Given the description of an element on the screen output the (x, y) to click on. 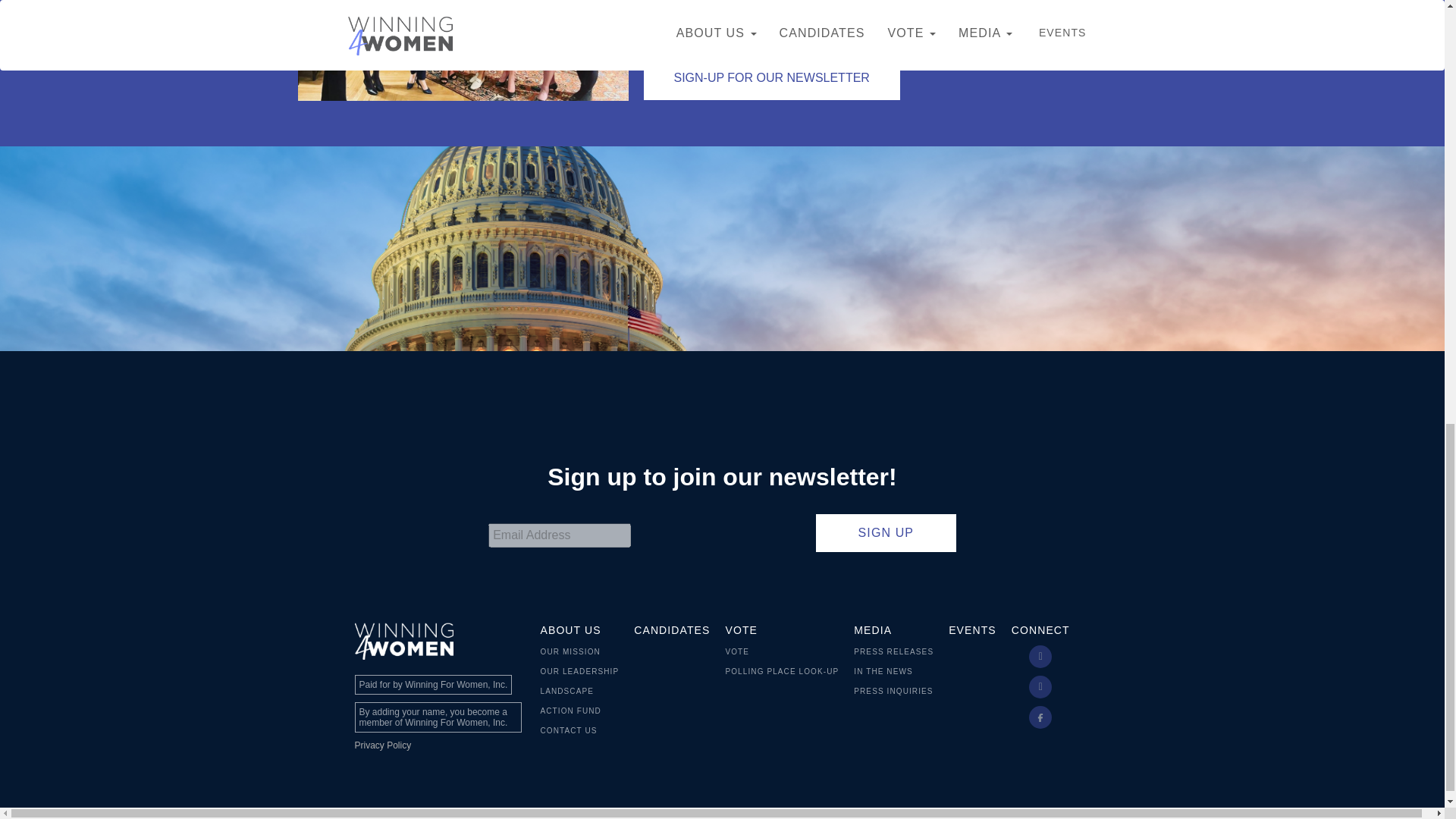
facebook (1040, 716)
SIGN-UP FOR OUR NEWSLETTER (771, 77)
Sign Up (885, 533)
Winning For Women (403, 638)
instagram (1040, 686)
twitter (1040, 656)
